Given the description of an element on the screen output the (x, y) to click on. 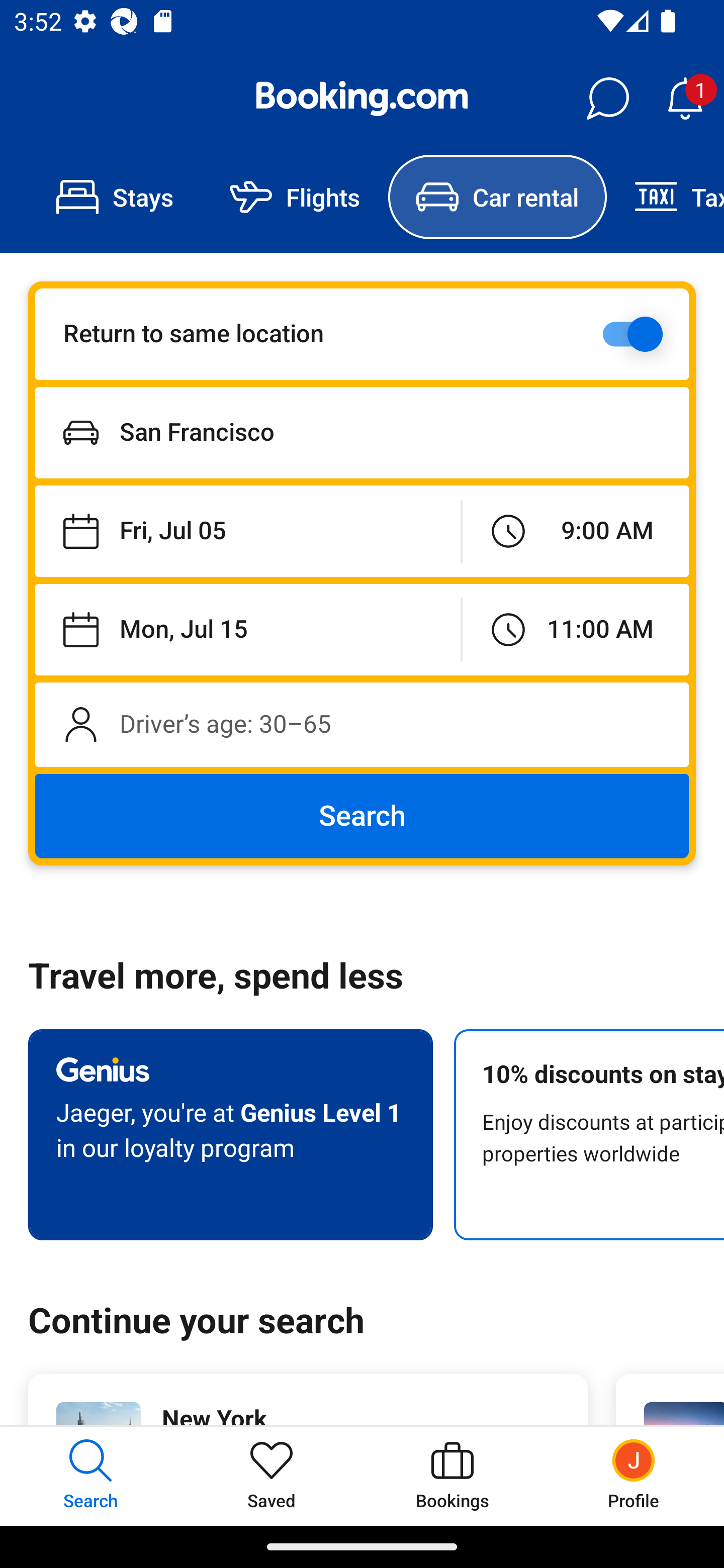
Messages (607, 98)
Notifications (685, 98)
Stays (114, 197)
Flights (294, 197)
Car rental (497, 197)
Taxi (665, 197)
Pick-up location: Text(name=San Francisco) (361, 432)
Pick-up date: 2024-07-05 (247, 531)
Pick-up time: 09:00:00.000 (575, 531)
Drop-off date: 2024-07-15 (247, 629)
Drop-off time: 11:00:00.000 (575, 629)
Enter the driver's age (361, 724)
Search (361, 815)
Saved (271, 1475)
Bookings (452, 1475)
Profile (633, 1475)
